Given the description of an element on the screen output the (x, y) to click on. 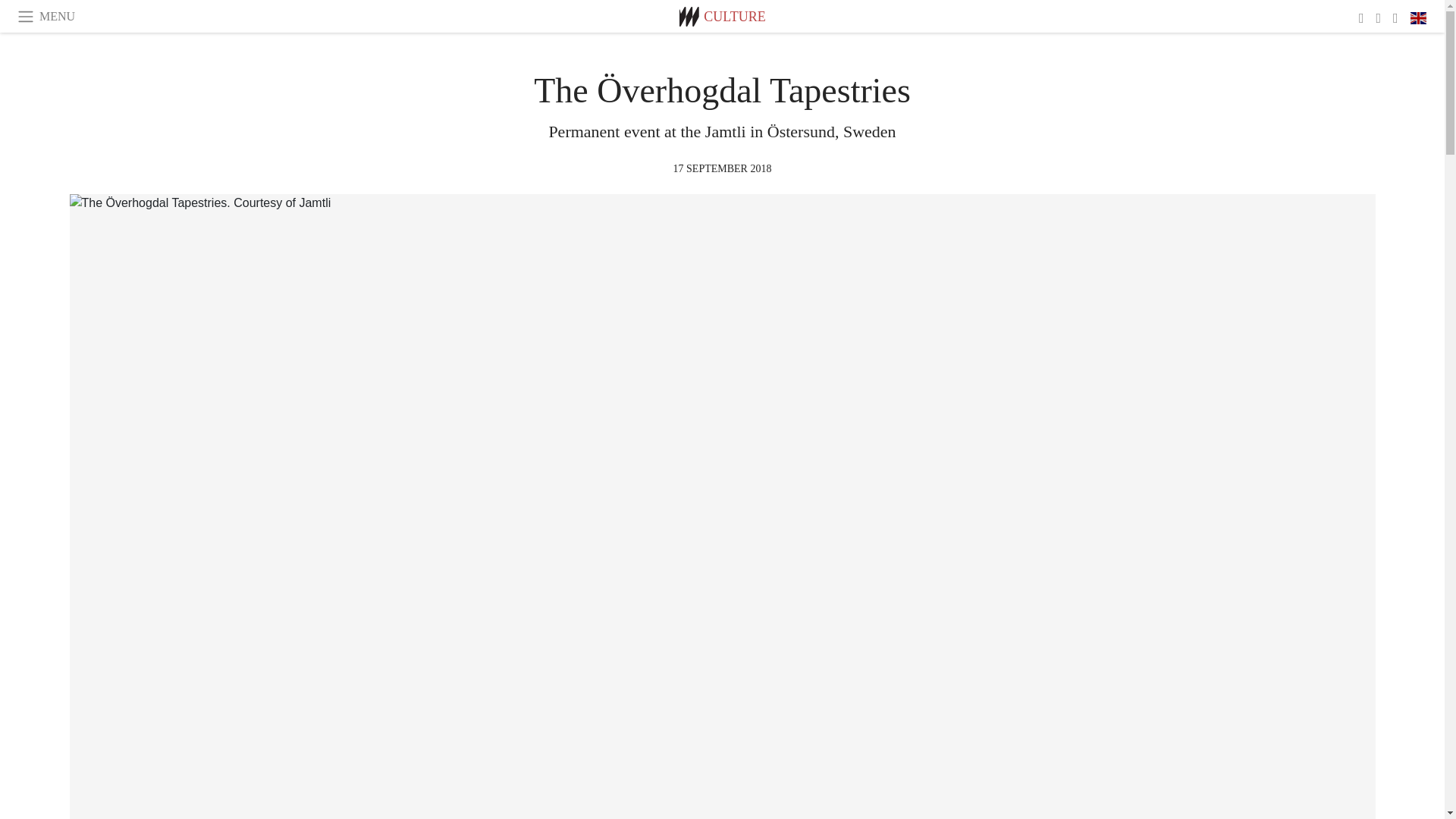
CULTURE (734, 16)
